Given the description of an element on the screen output the (x, y) to click on. 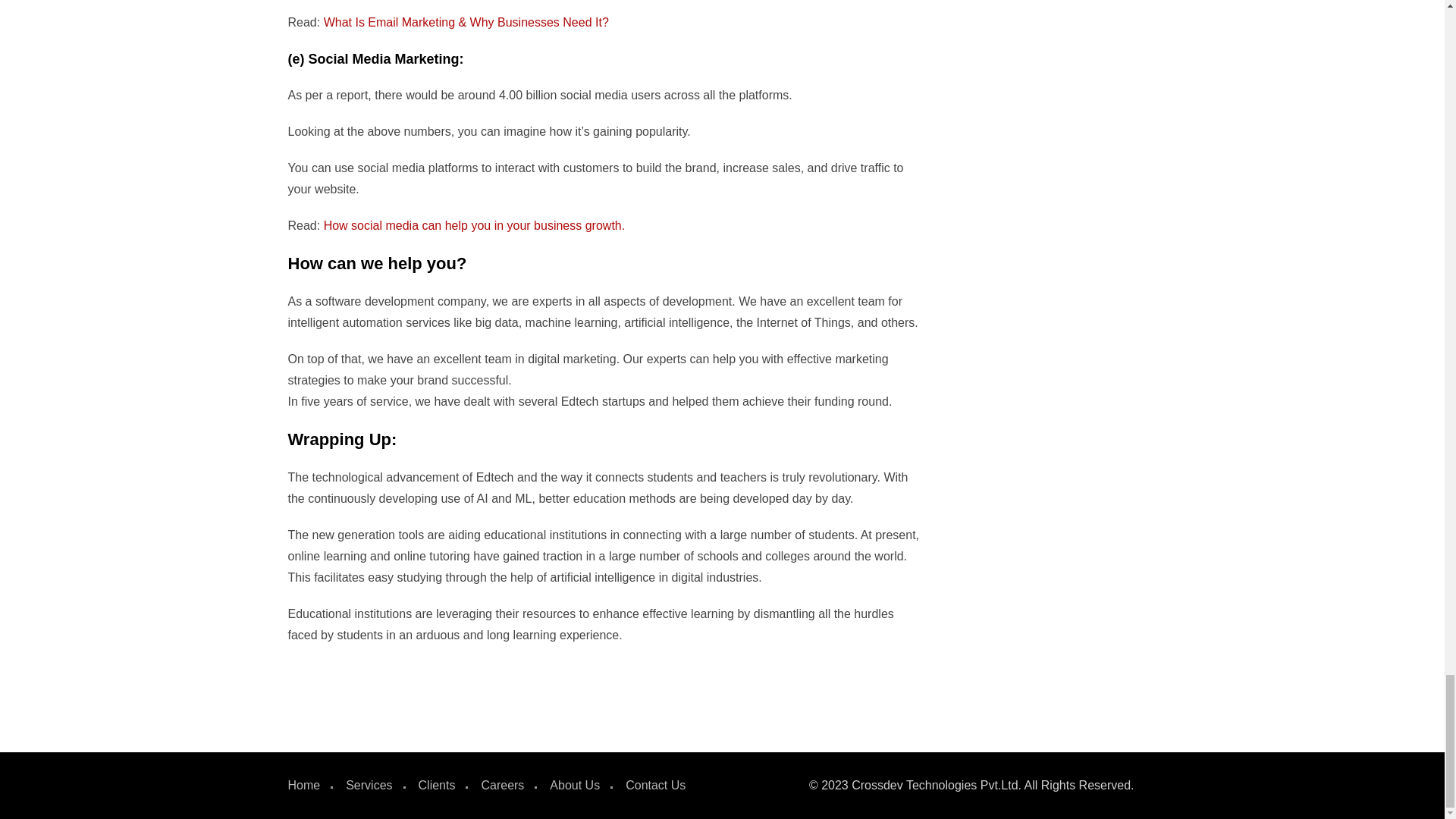
Careers (502, 784)
About Us (574, 784)
Clients (437, 784)
Home (304, 784)
Contact Us (655, 784)
Services (368, 784)
How social media can help you in your business growth. (474, 225)
